Given the description of an element on the screen output the (x, y) to click on. 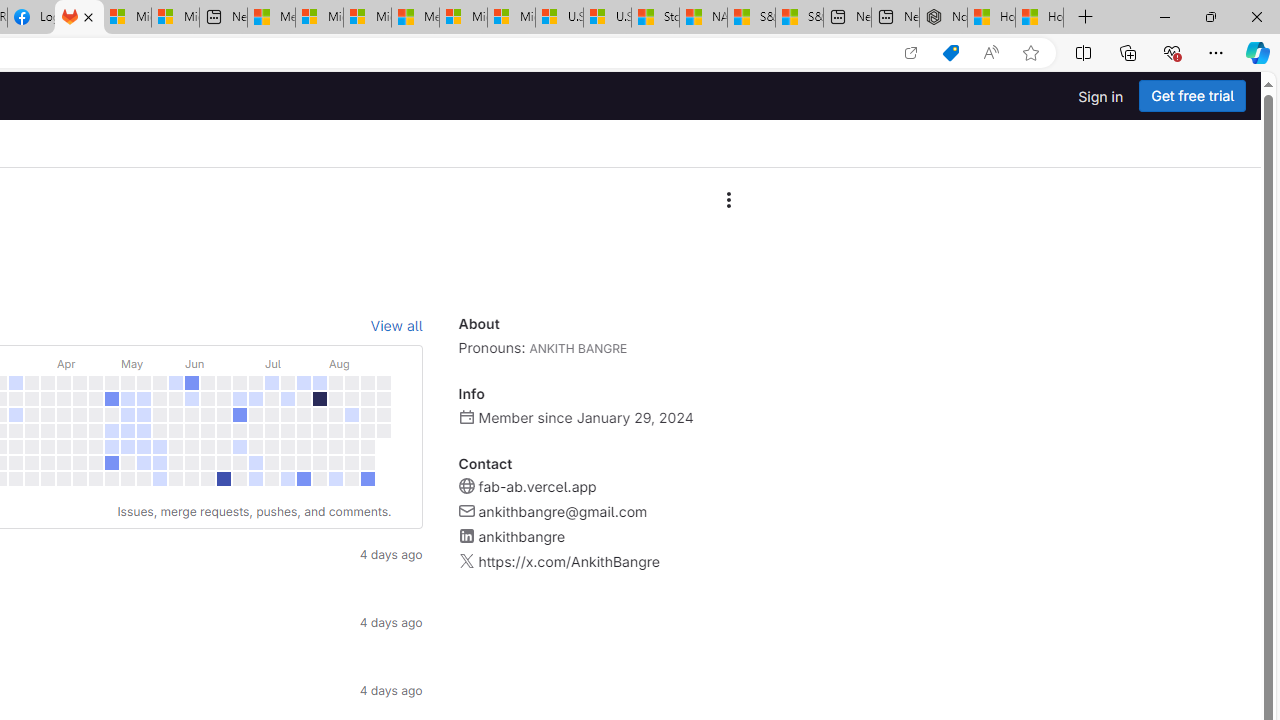
View all (395, 325)
